Given the description of an element on the screen output the (x, y) to click on. 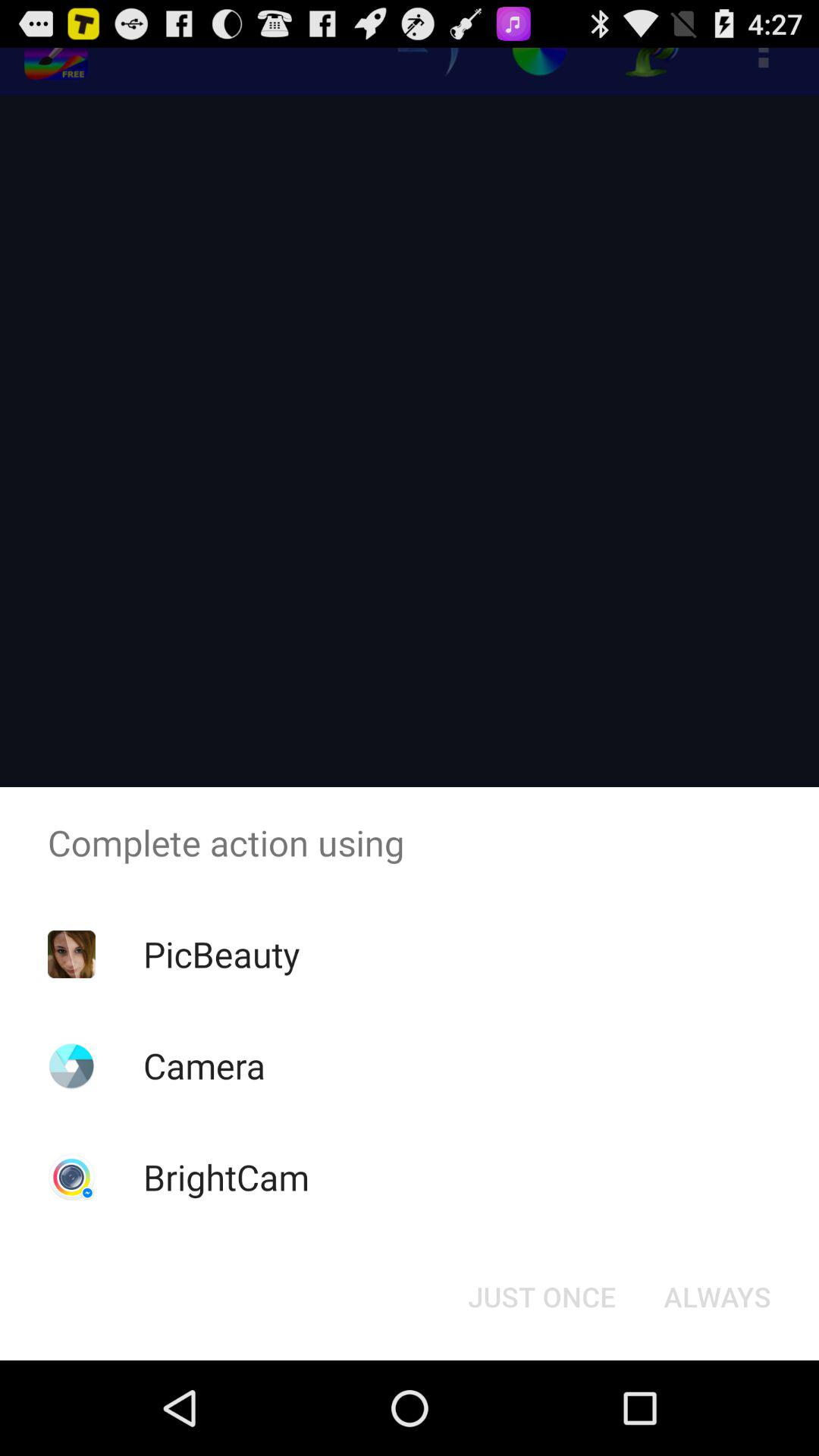
scroll until the camera icon (204, 1065)
